Given the description of an element on the screen output the (x, y) to click on. 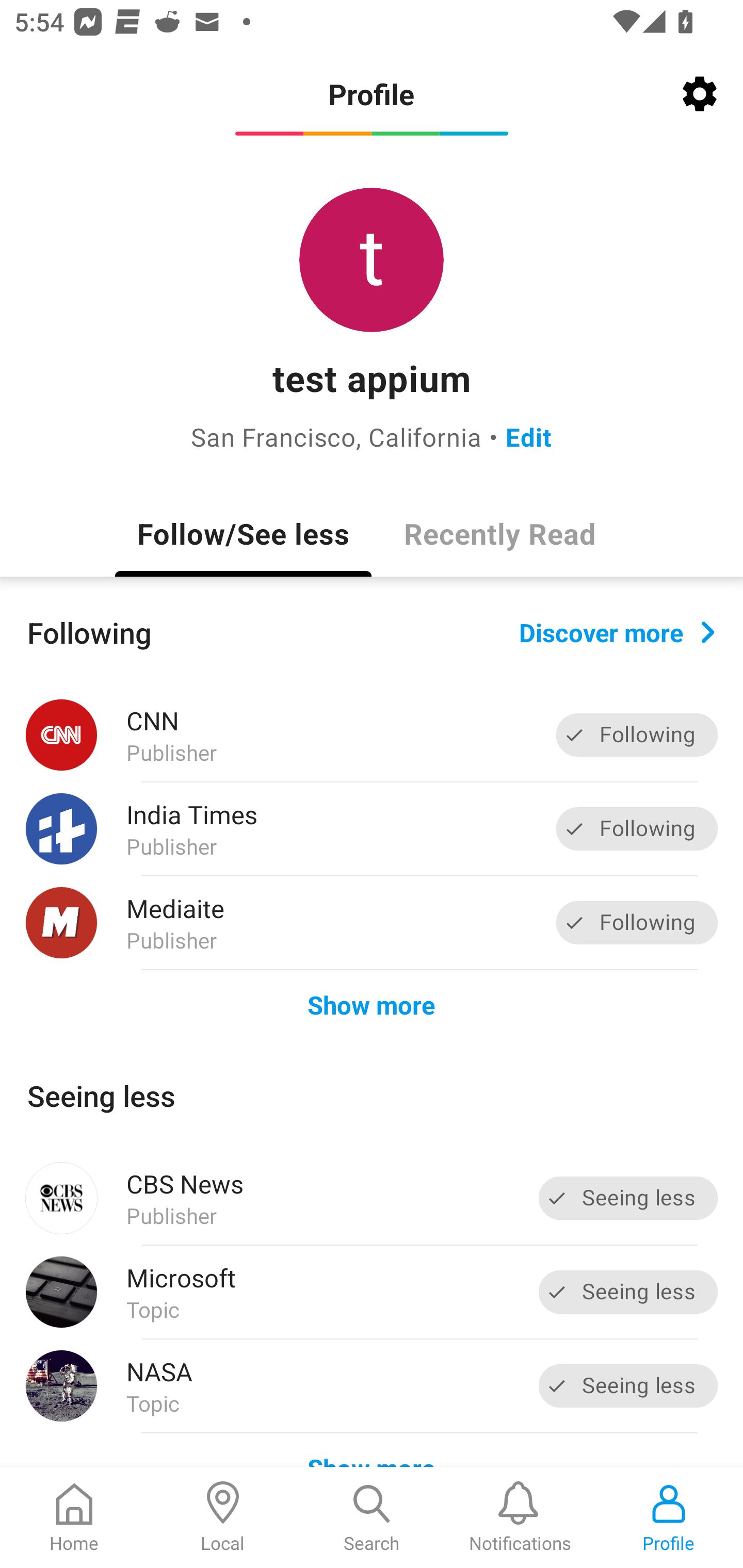
Settings (699, 93)
Edit (528, 436)
Recently Read (499, 533)
Discover more (617, 631)
CNN Publisher Following (371, 735)
Following (636, 735)
India Times Publisher Following (371, 829)
Following (636, 828)
Mediaite Publisher Following (371, 922)
Following (636, 922)
Show more (371, 1004)
CBS News Publisher Seeing less (371, 1197)
Seeing less (627, 1197)
Microsoft Topic Seeing less (371, 1291)
Seeing less (627, 1291)
NASA Topic Seeing less (371, 1386)
Seeing less (627, 1386)
Home (74, 1517)
Local (222, 1517)
Search (371, 1517)
Notifications (519, 1517)
